Given the description of an element on the screen output the (x, y) to click on. 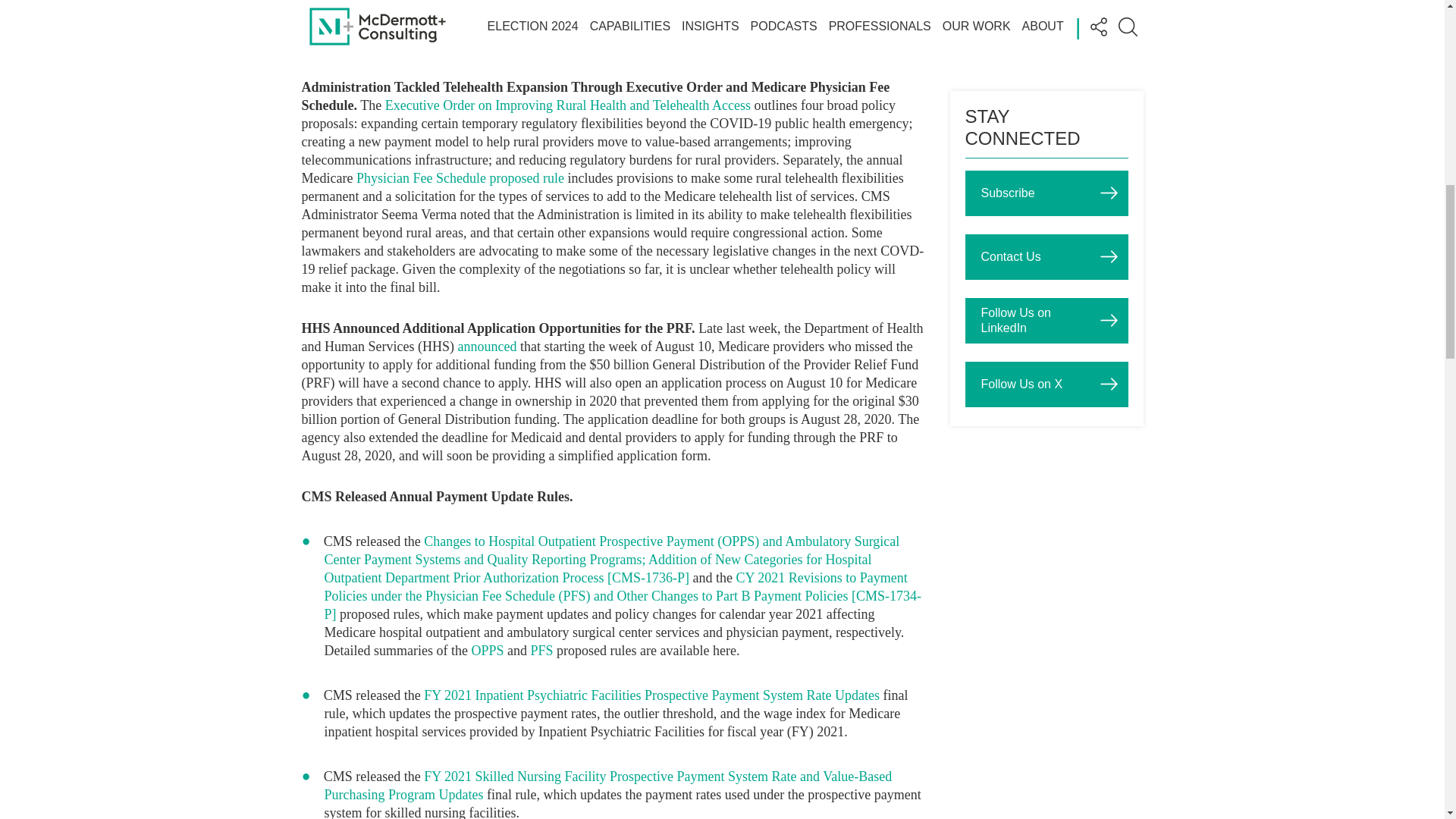
Physician Fee Schedule proposed rule (460, 177)
announced (486, 346)
